Given the description of an element on the screen output the (x, y) to click on. 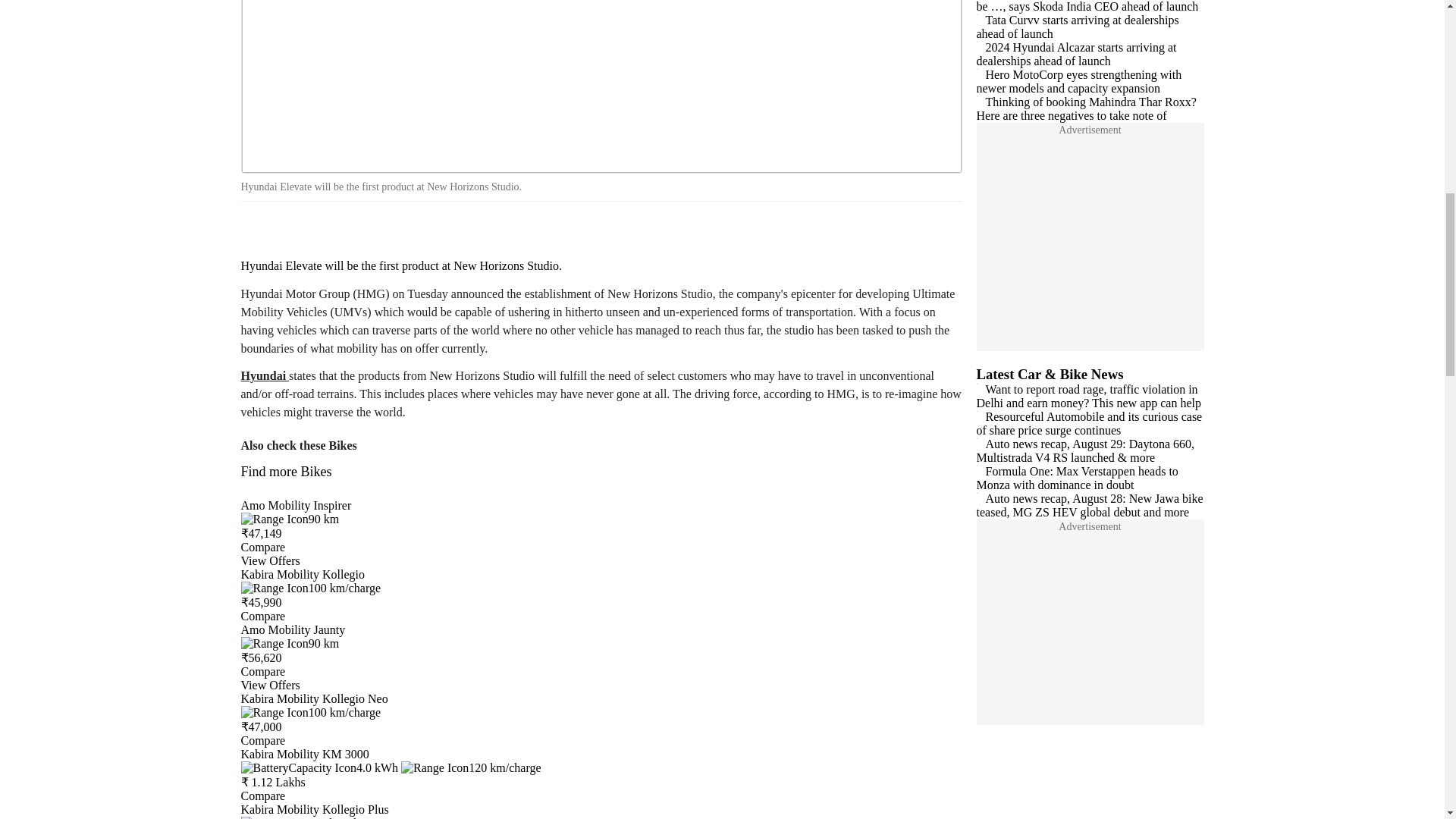
Facebook Share (258, 227)
Range (311, 587)
Range (290, 518)
Tweet (299, 227)
Range (311, 712)
Range (310, 817)
Range (290, 643)
Range (471, 767)
BatteryCapacity (319, 767)
